Given the description of an element on the screen output the (x, y) to click on. 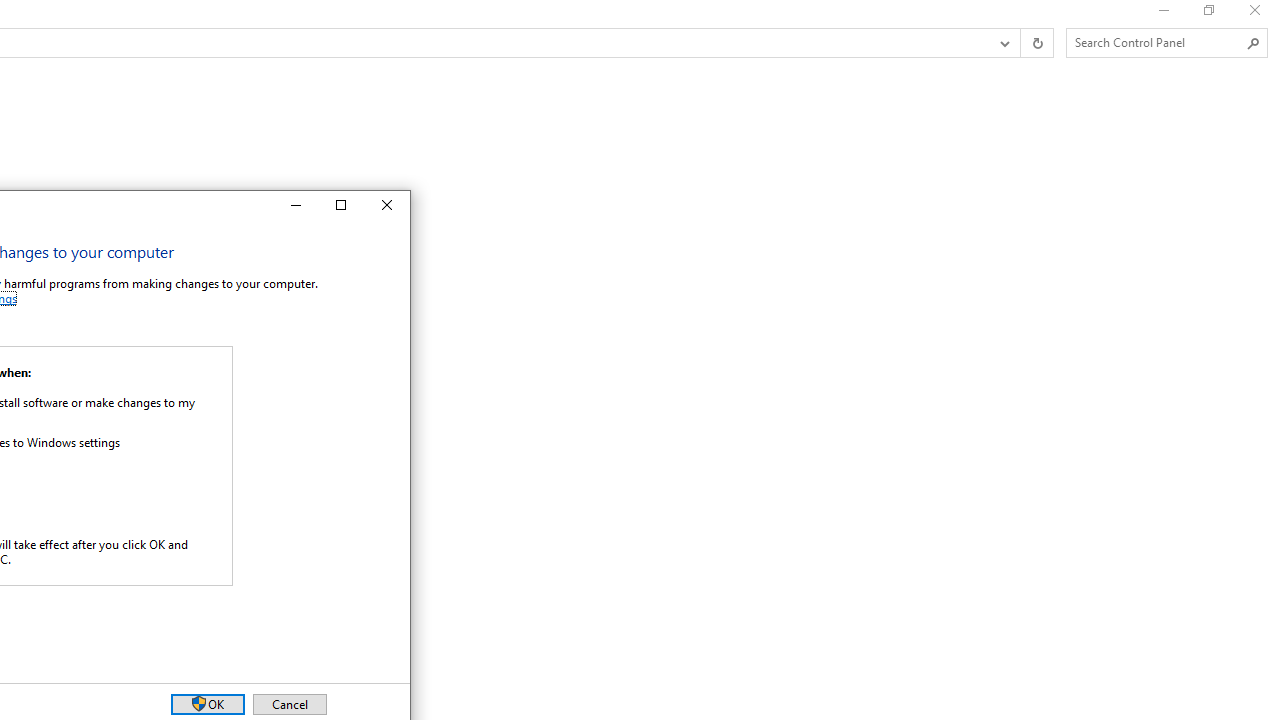
Maximize (340, 205)
Minimize (294, 205)
Cancel (289, 703)
OK (207, 703)
Close (386, 205)
